Given the description of an element on the screen output the (x, y) to click on. 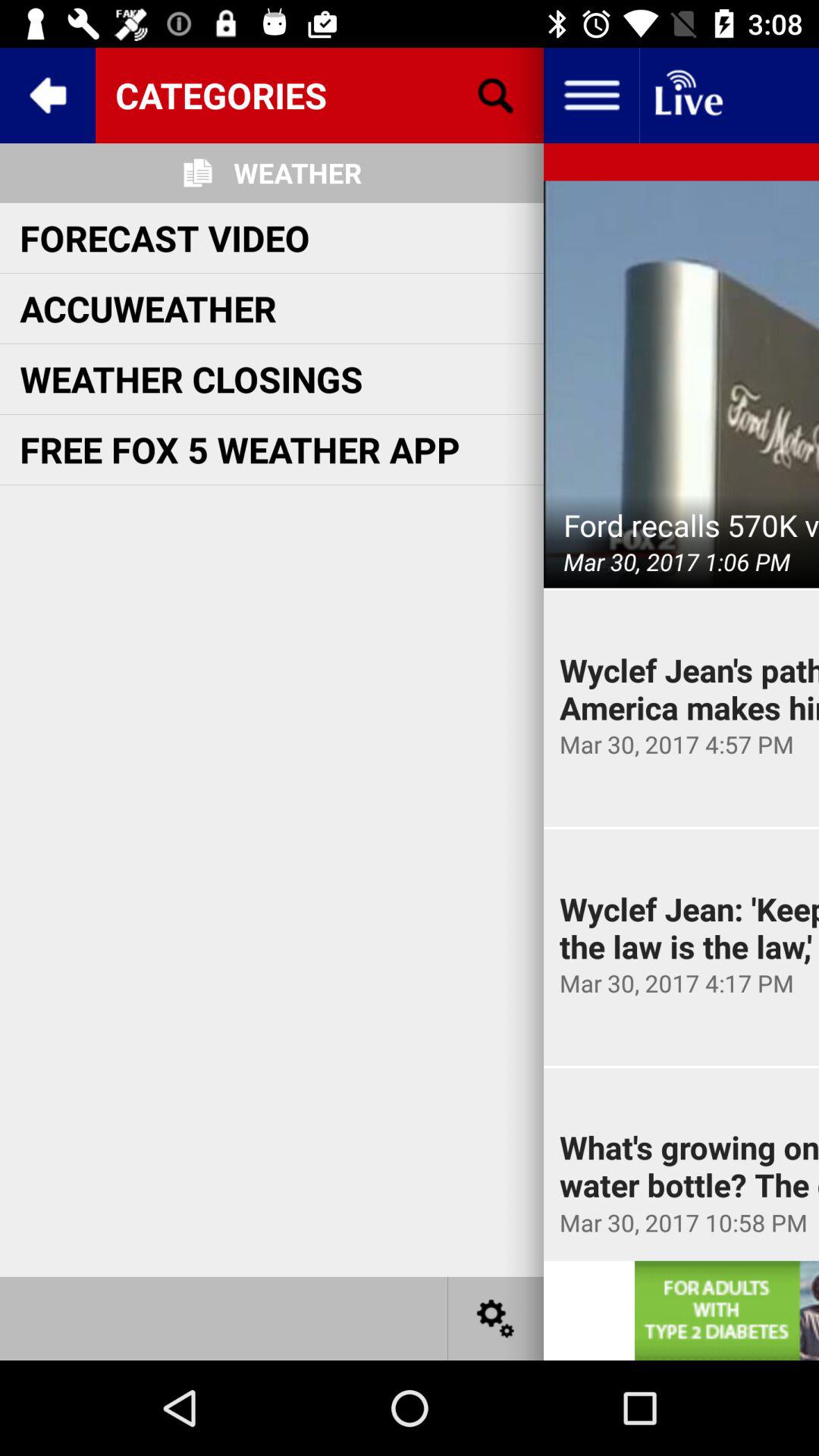
go to advertisement (726, 1310)
